Given the description of an element on the screen output the (x, y) to click on. 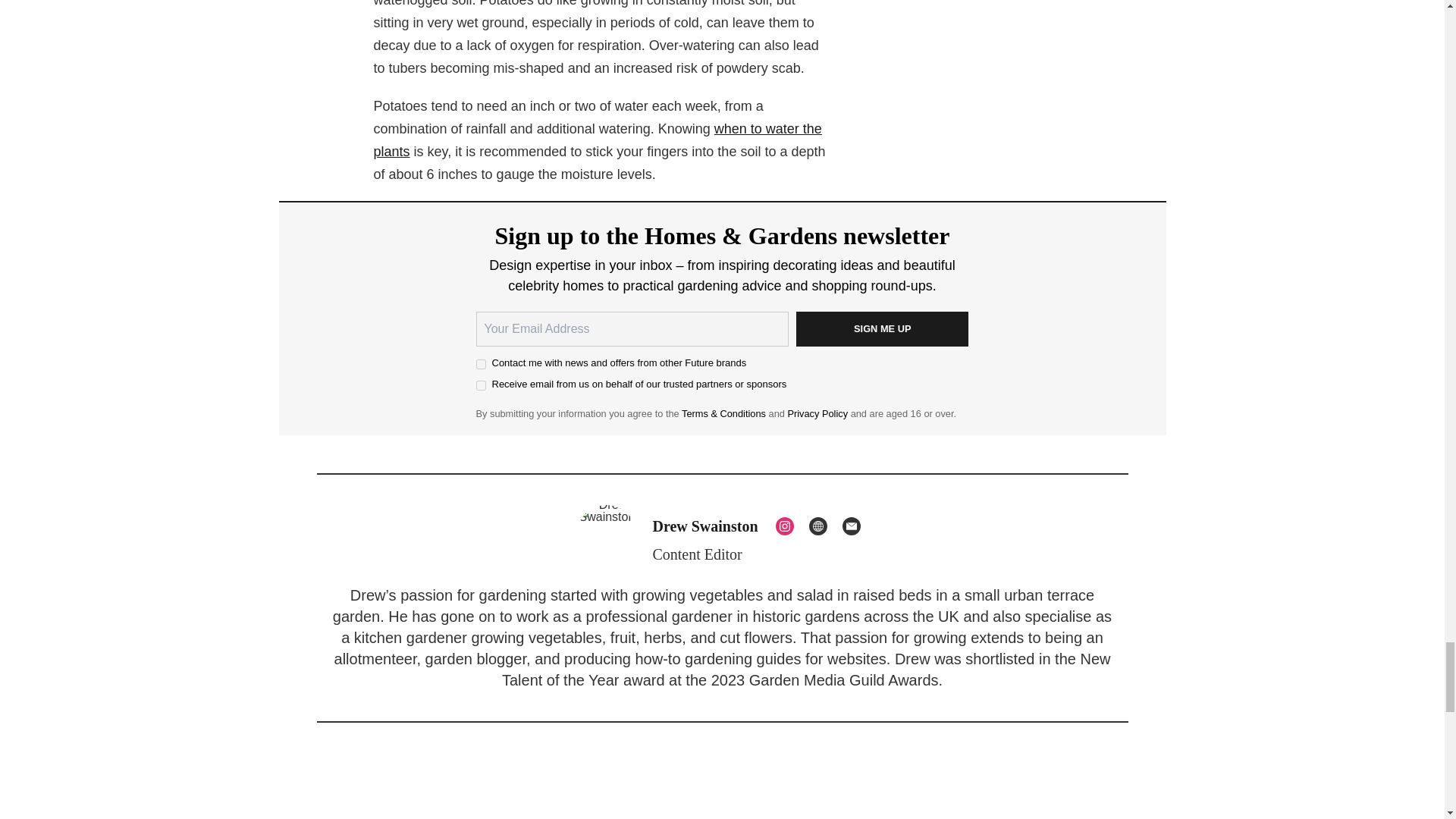
on (481, 385)
Sign me up (882, 329)
on (481, 364)
